Given the description of an element on the screen output the (x, y) to click on. 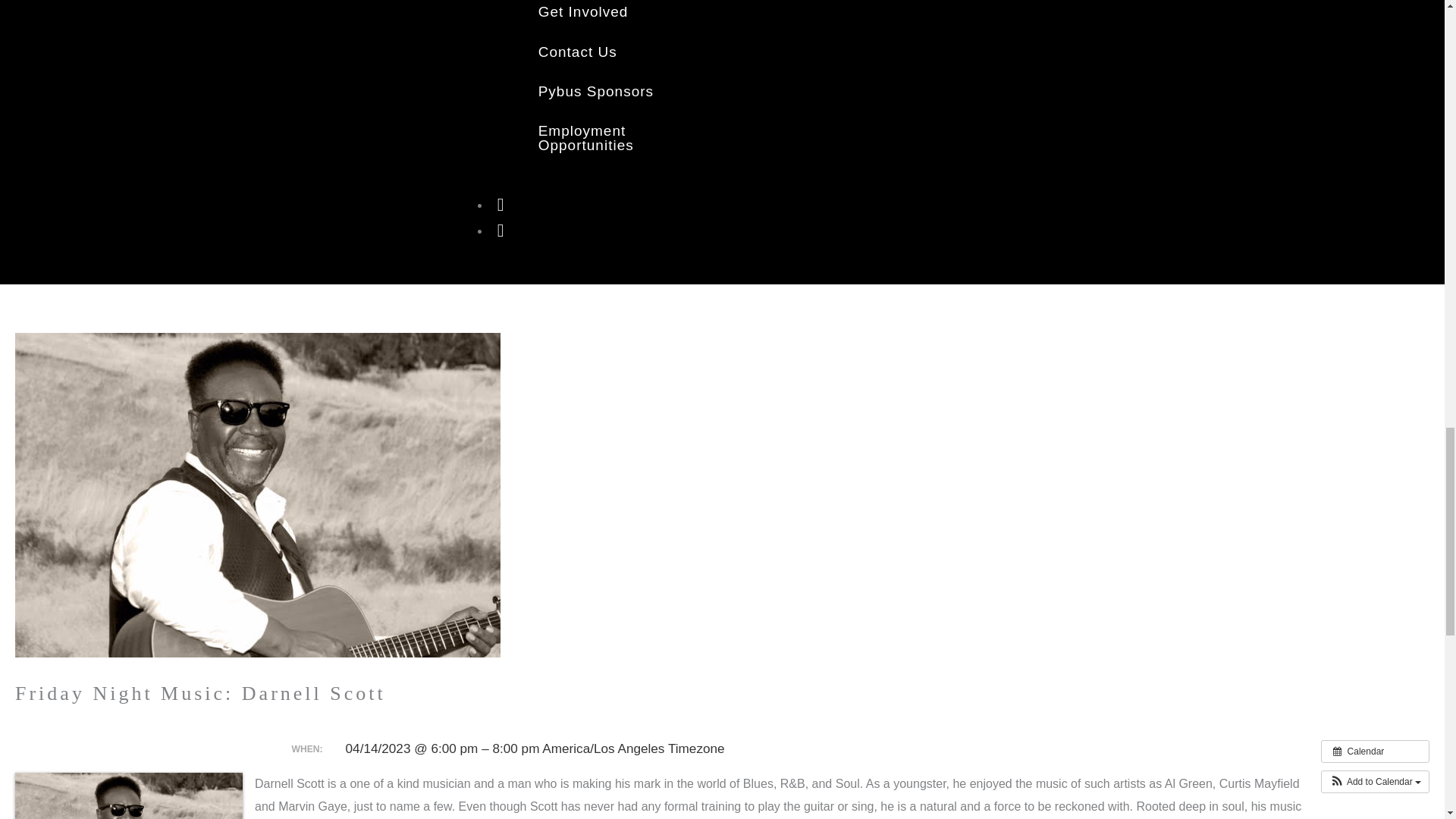
View all events (1374, 751)
